Given the description of an element on the screen output the (x, y) to click on. 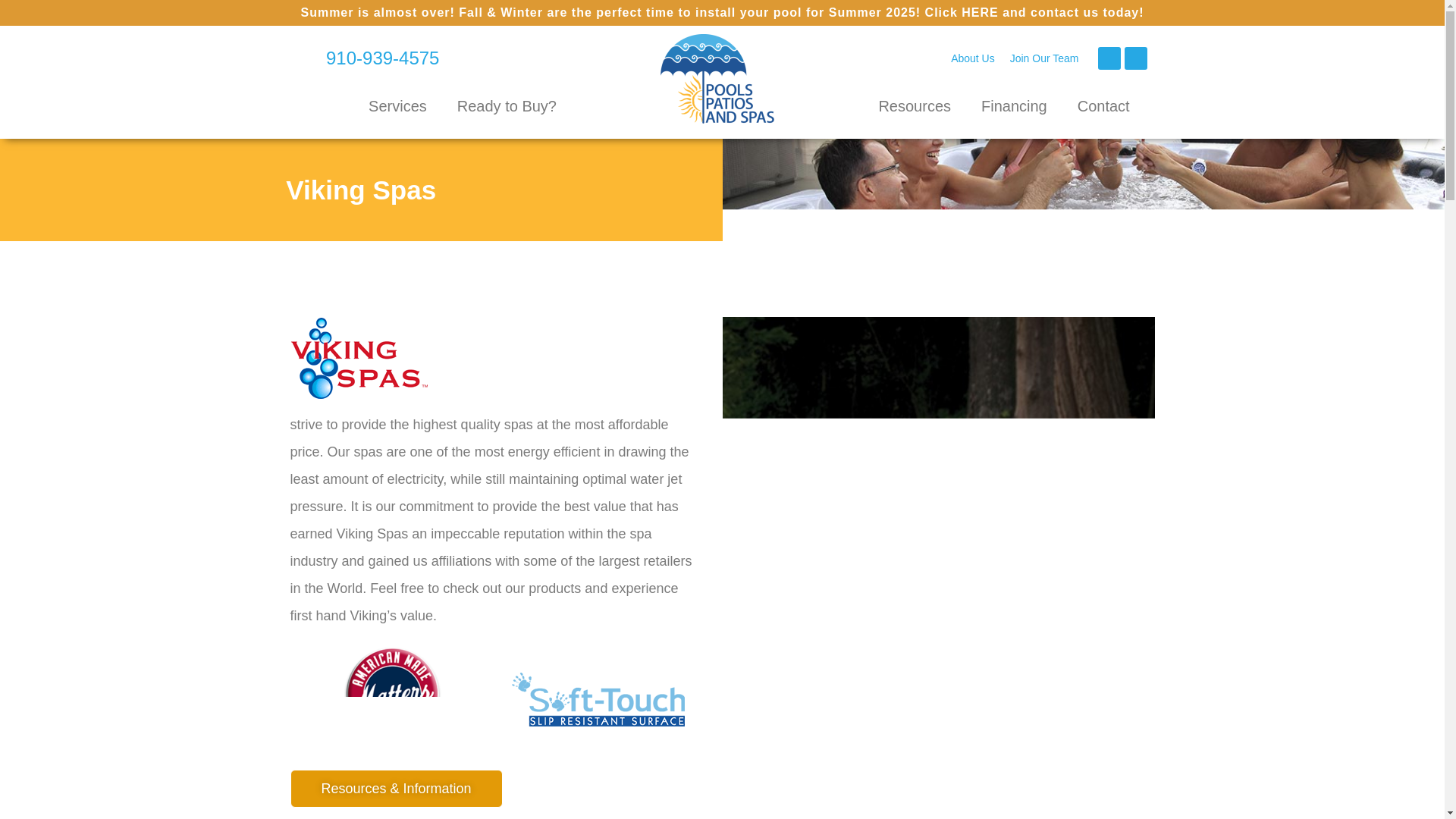
About Us (973, 58)
Services (397, 105)
Ready to Buy? (507, 105)
910-939-4575 (368, 58)
Join Our Team (1044, 58)
